Given the description of an element on the screen output the (x, y) to click on. 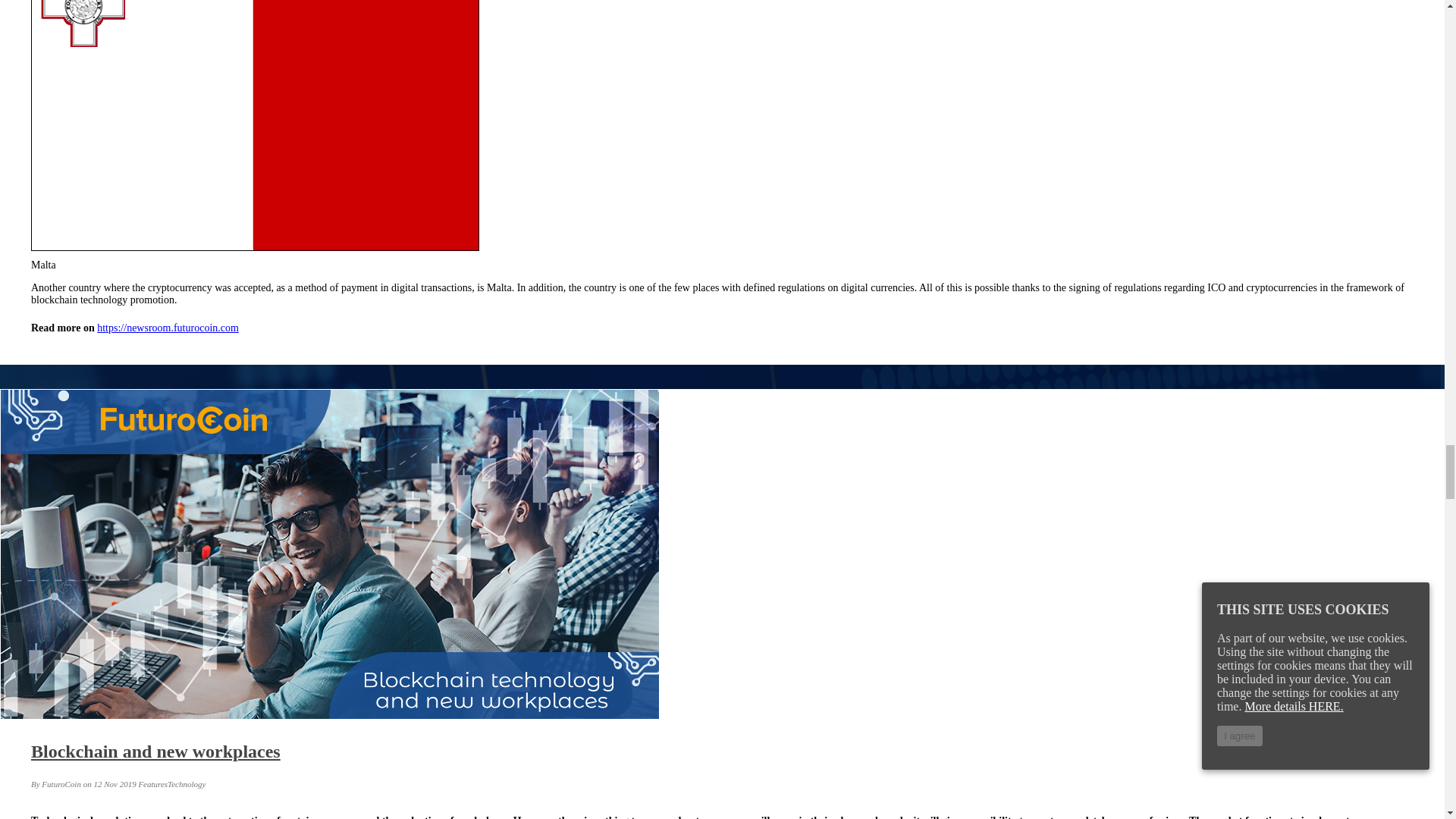
Blockchain and new workplaces (155, 751)
